Given the description of an element on the screen output the (x, y) to click on. 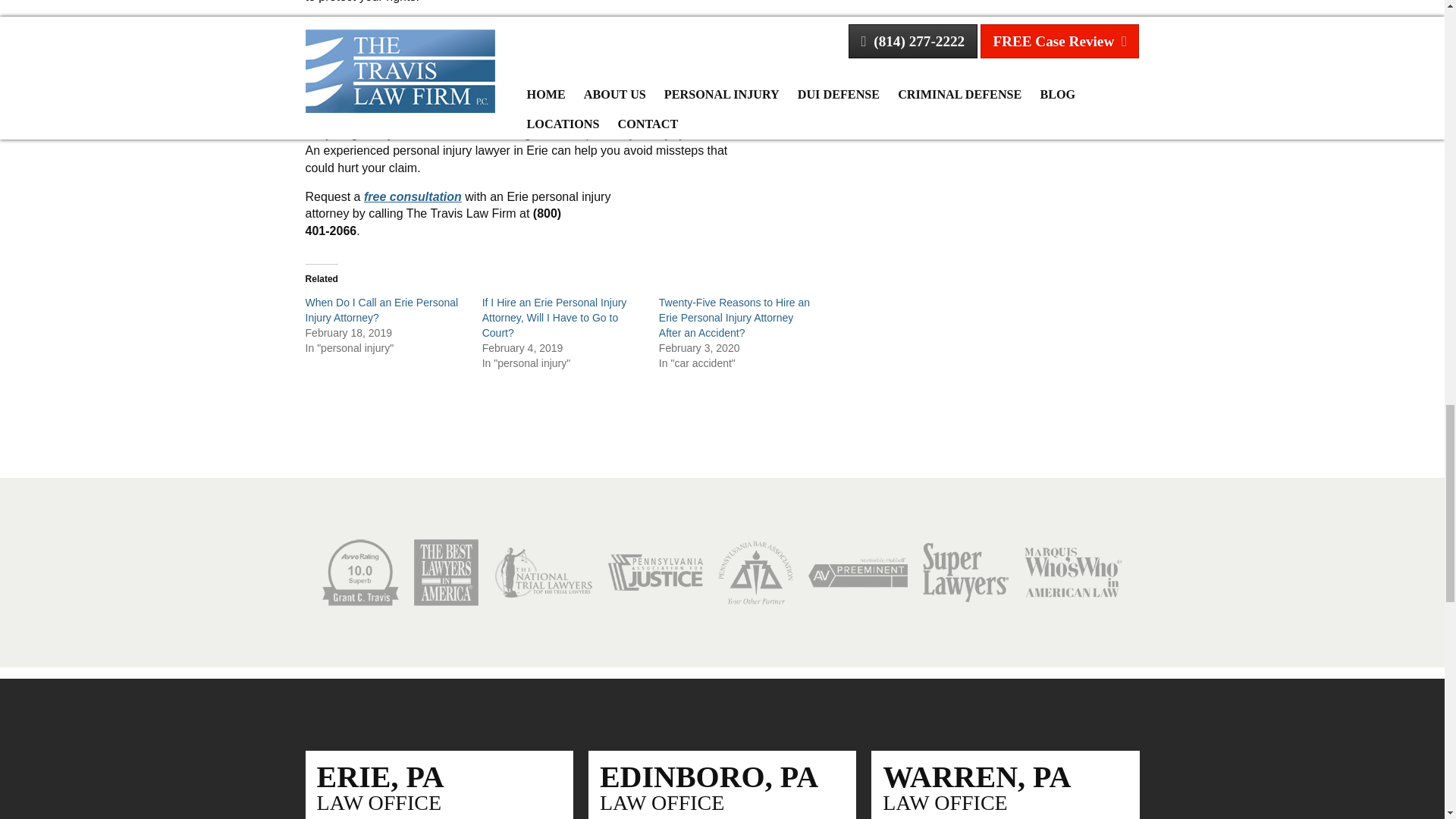
When Do I Call an Erie Personal Injury Attorney? (381, 309)
